Given the description of an element on the screen output the (x, y) to click on. 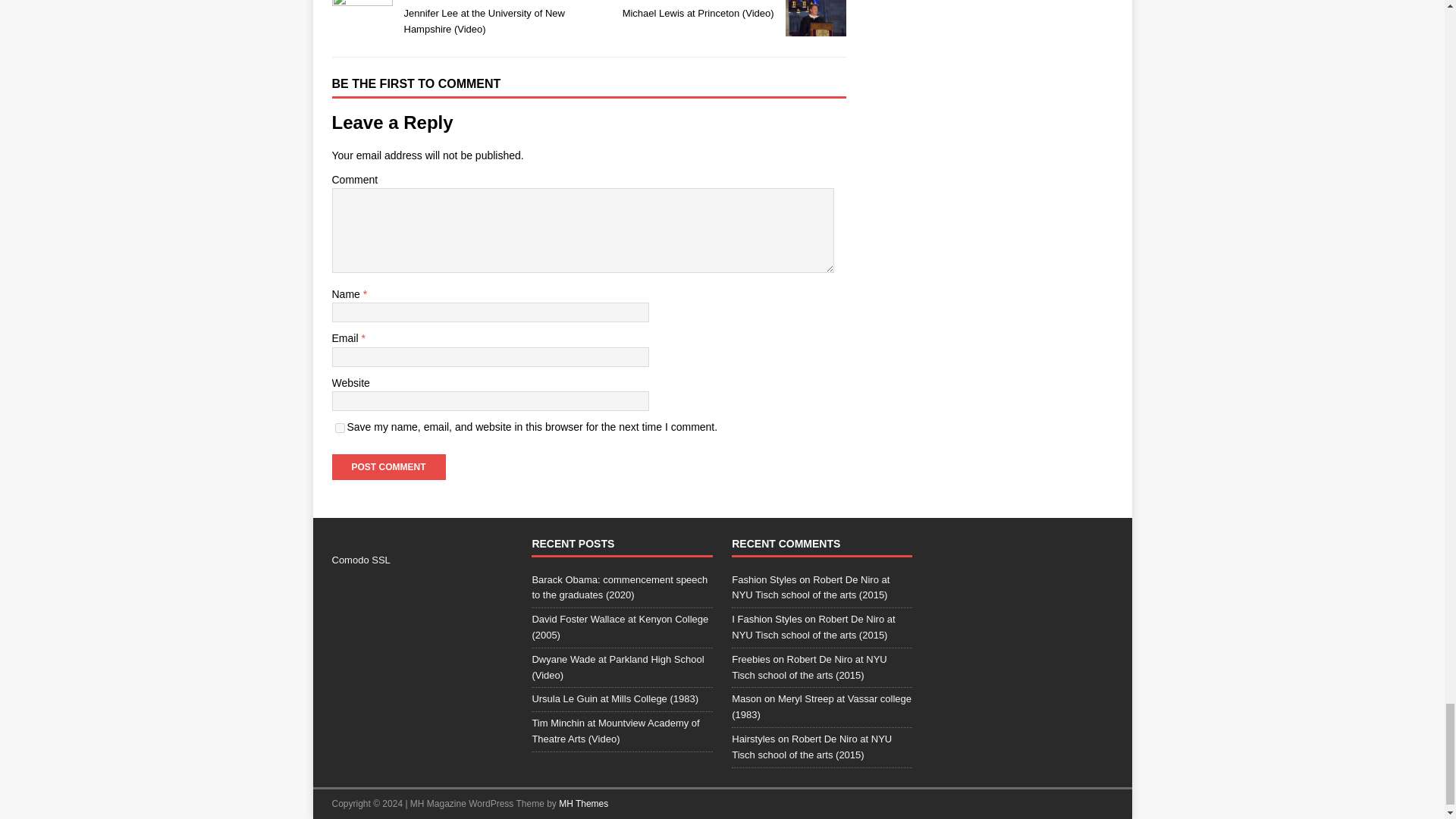
yes (339, 428)
Post Comment (388, 466)
